Given the description of an element on the screen output the (x, y) to click on. 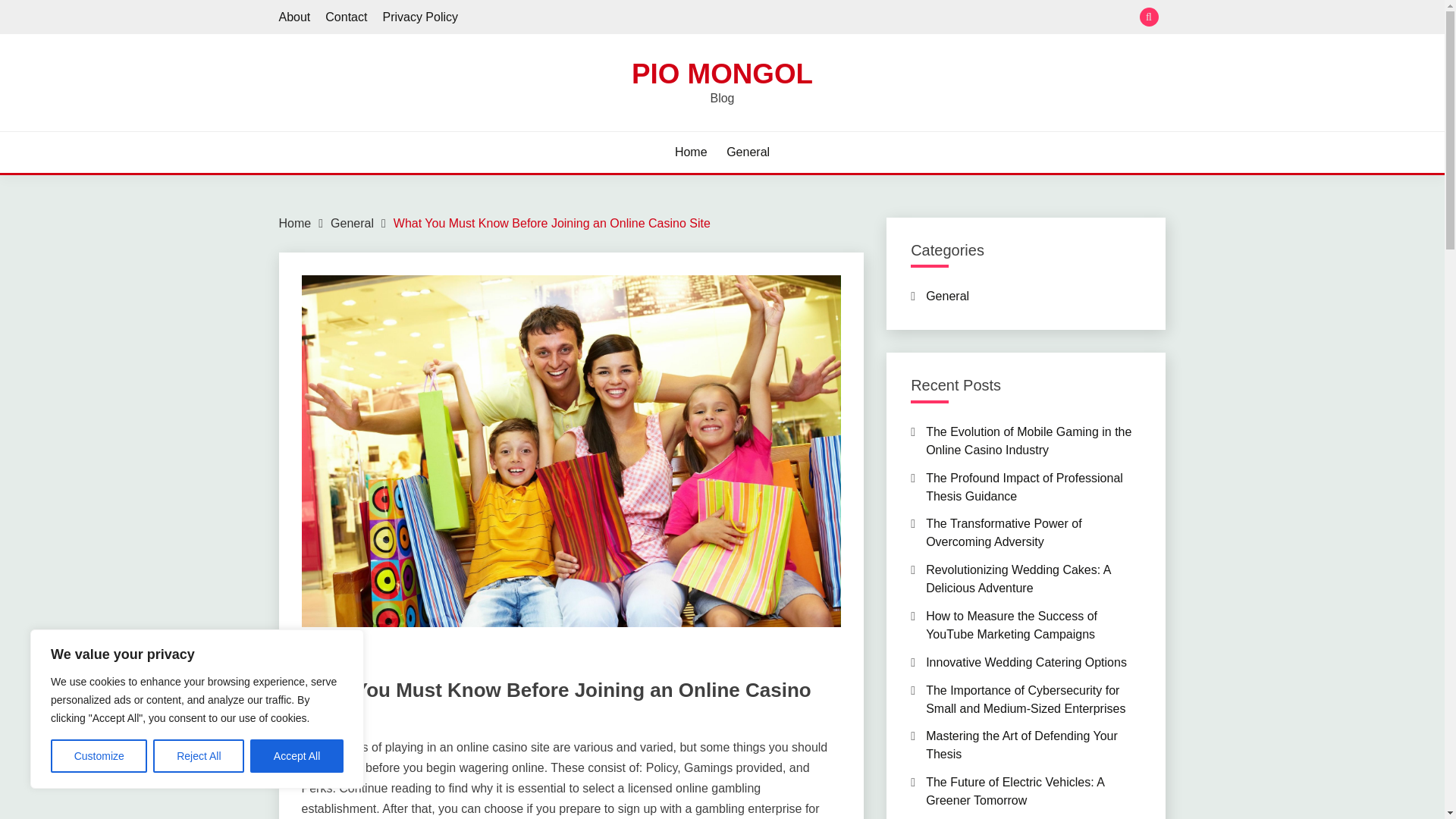
General (352, 223)
General (748, 152)
About (295, 16)
Privacy Policy (419, 16)
Accept All (296, 756)
Customize (98, 756)
Home (295, 223)
Reject All (198, 756)
PIO MONGOL (721, 73)
General (321, 661)
Contact (345, 16)
What You Must Know Before Joining an Online Casino Site (551, 223)
Home (691, 152)
